Given the description of an element on the screen output the (x, y) to click on. 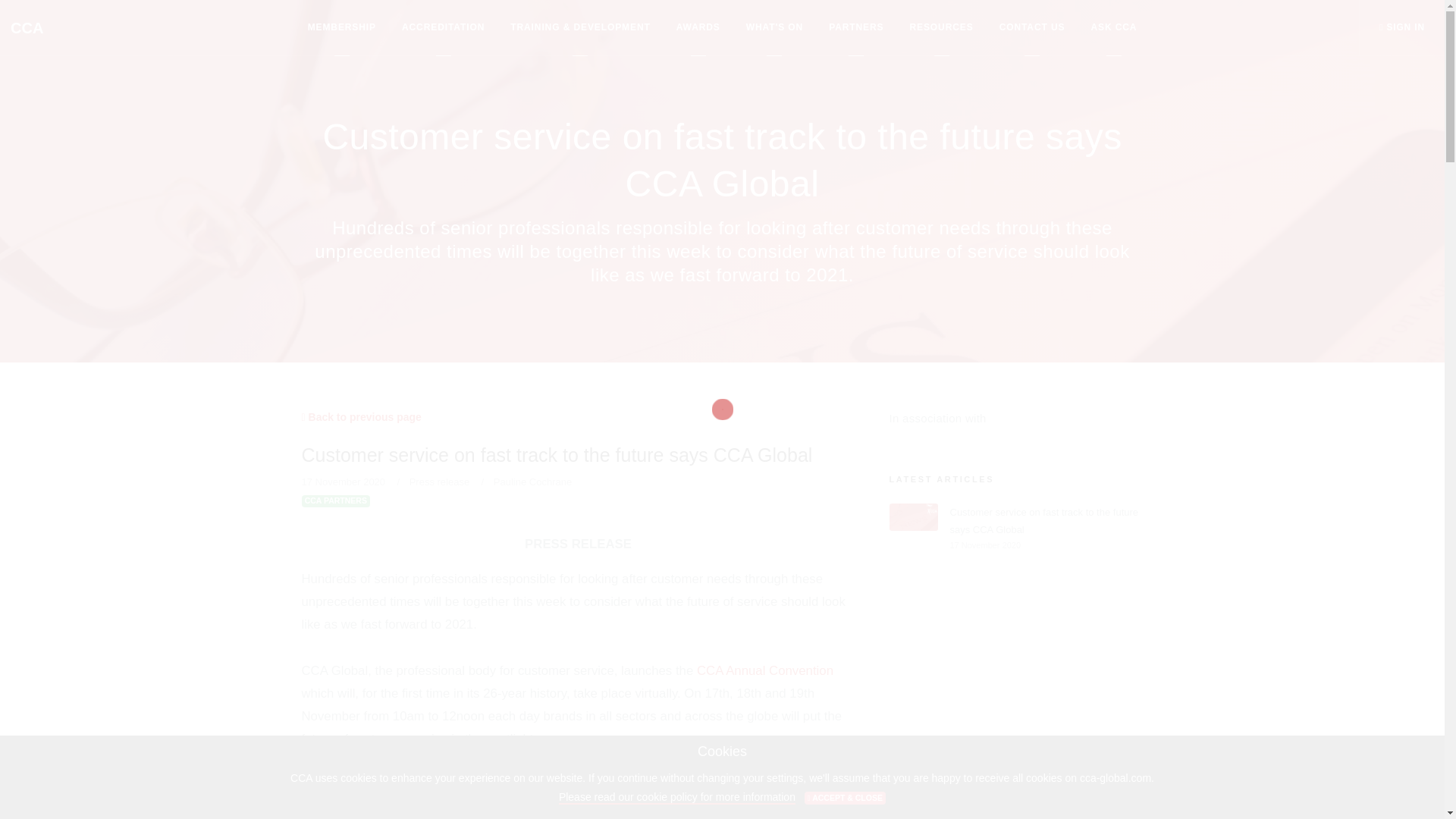
CCA (26, 26)
MEMBERSHIP (341, 27)
CCA Annual Convention (764, 670)
ACCREDITATION (442, 27)
WHAT'S ON (774, 27)
CCA PARTNERS (336, 500)
PARTNERS (856, 27)
ASK CCA (1112, 27)
CONTACT US (1032, 27)
AWARDS (698, 27)
